Given the description of an element on the screen output the (x, y) to click on. 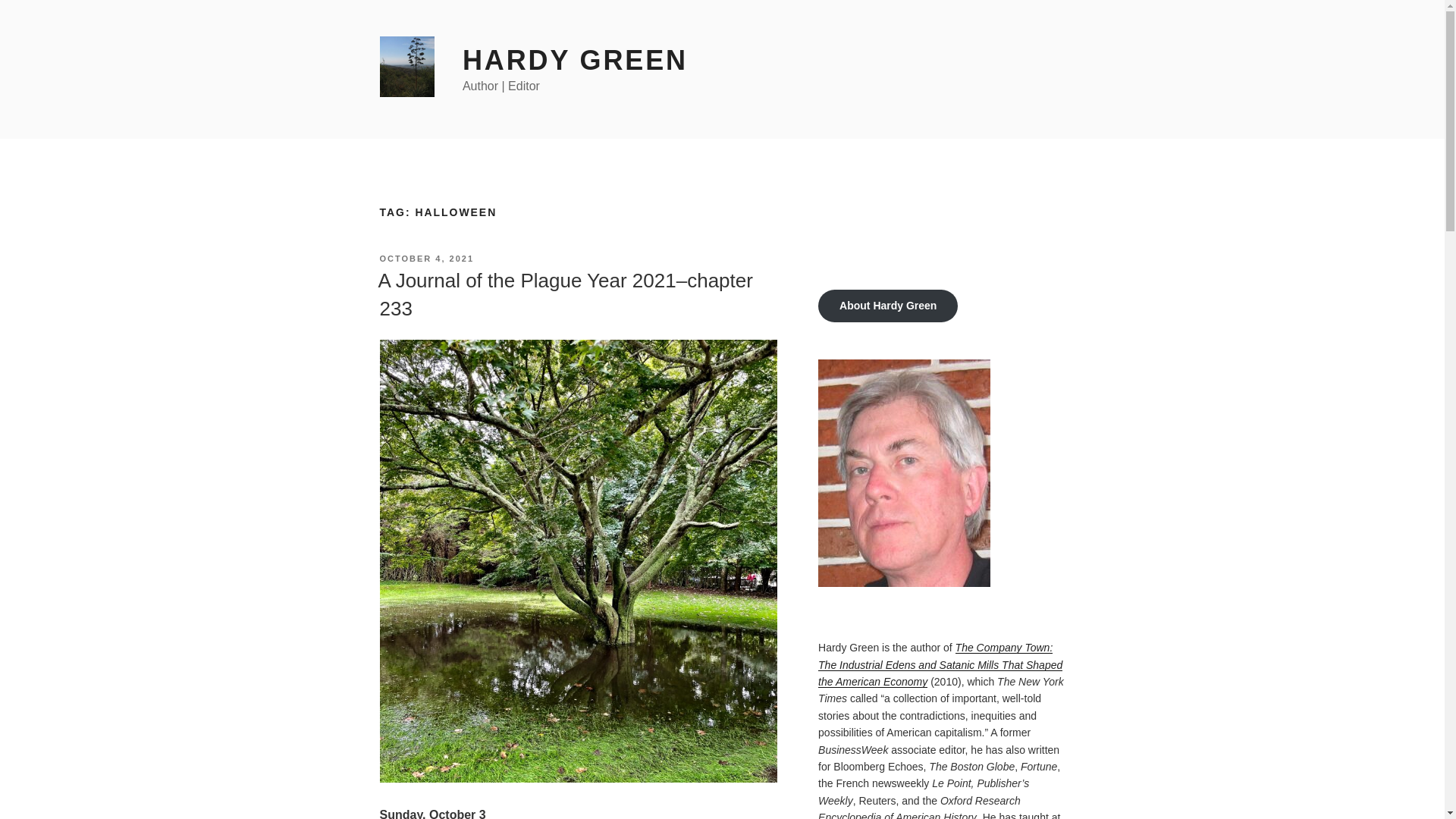
OCTOBER 4, 2021 (426, 257)
HARDY GREEN (575, 60)
About Hardy Green (888, 305)
